Given the description of an element on the screen output the (x, y) to click on. 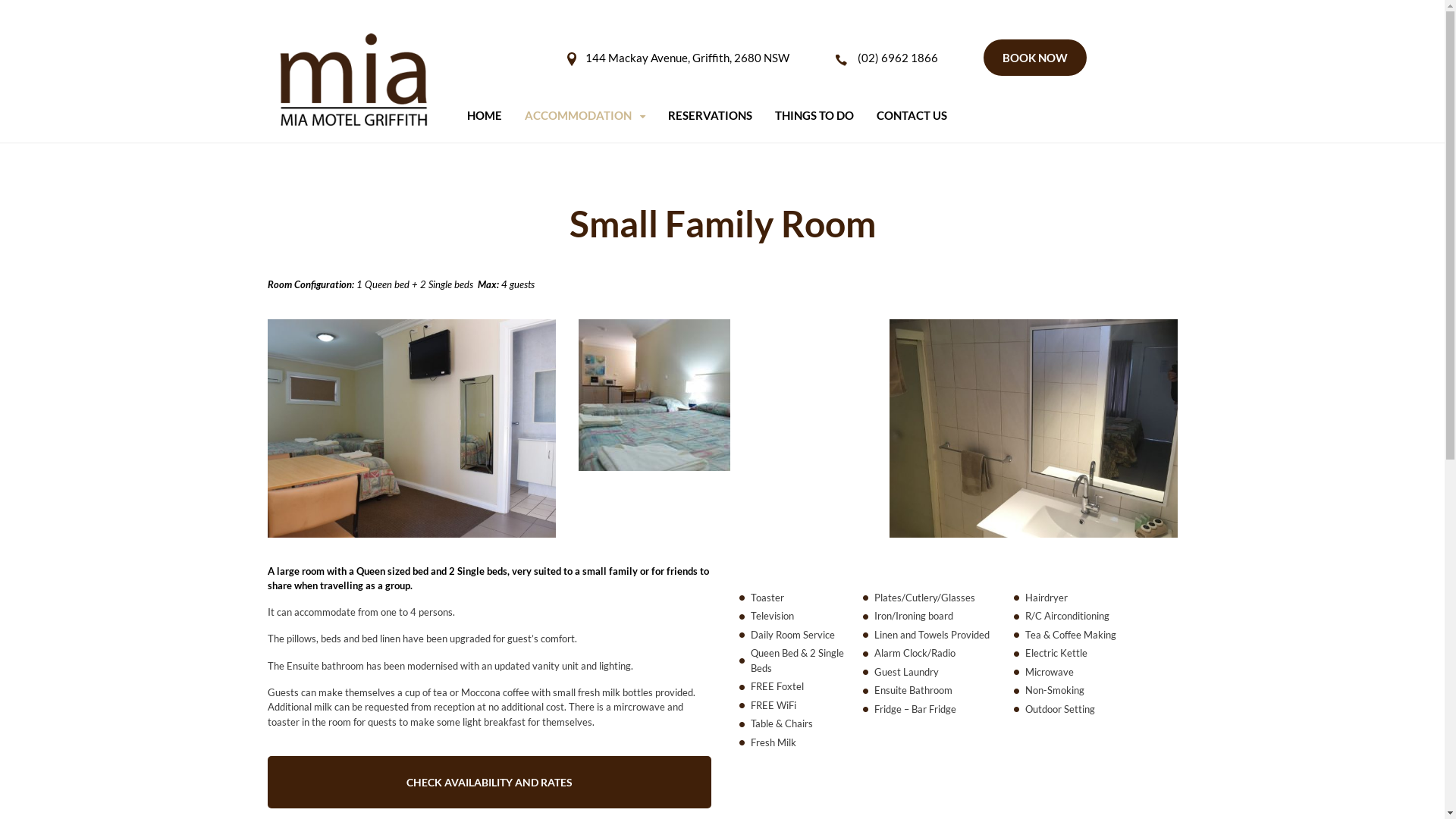
CONTACT US Element type: text (911, 116)
HOME Element type: text (484, 116)
CHECK AVAILABILITY AND RATES Element type: text (488, 782)
ACCOMMODATION Element type: text (584, 116)
small family 3 Element type: hover (653, 394)
IMG-0311 Element type: hover (1032, 427)
144 Mackay Avenue, Griffith, 2680 NSW Element type: text (687, 57)
THINGS TO DO Element type: text (814, 116)
(02) 6962 1866 Element type: text (896, 57)
18 Element type: hover (410, 427)
BOOK NOW Element type: text (1033, 57)
RESERVATIONS Element type: text (709, 116)
